Given the description of an element on the screen output the (x, y) to click on. 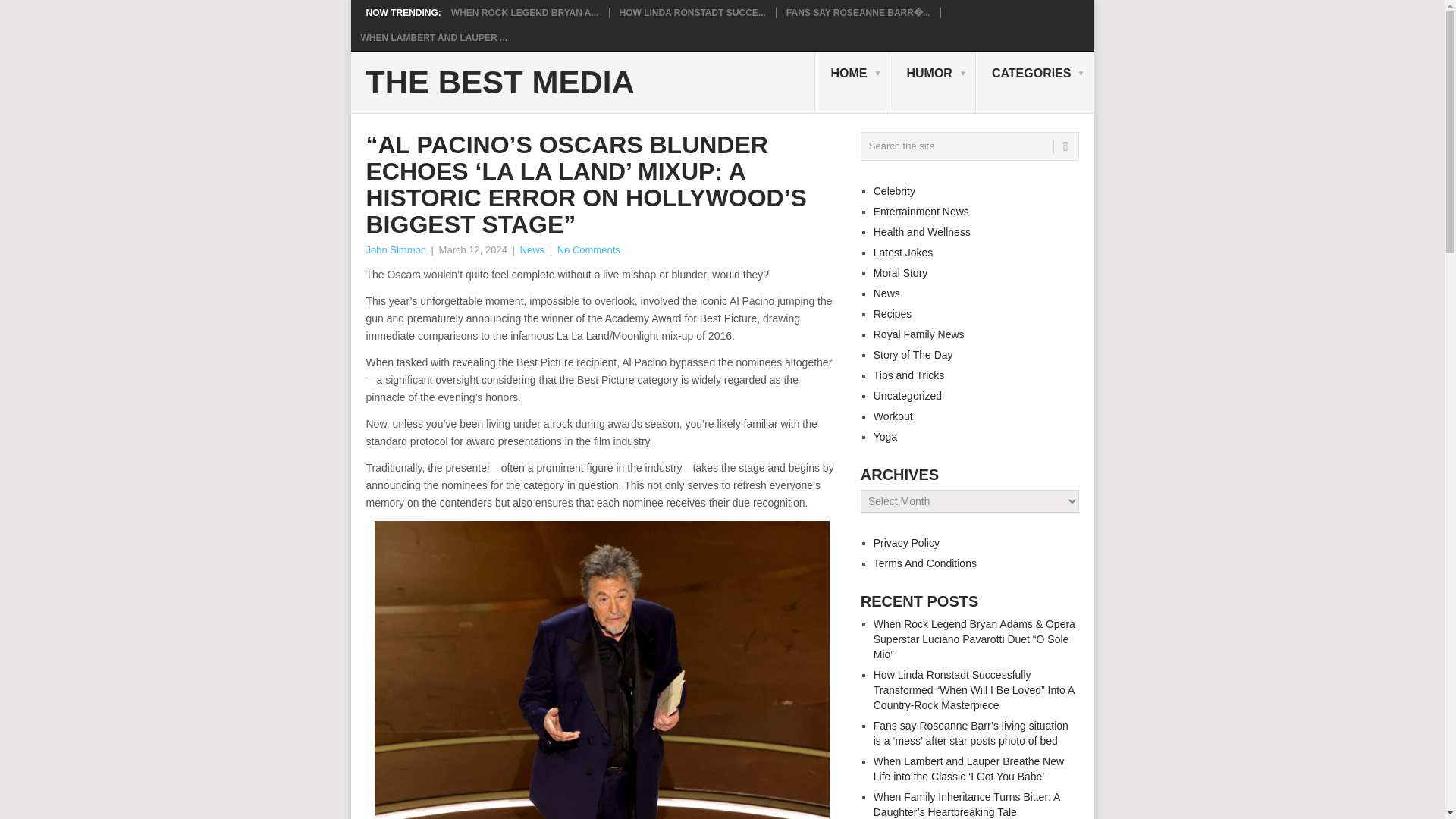
Health and Wellness (922, 232)
HOME (851, 82)
THE BEST MEDIA (499, 82)
Posts by John Simmon (395, 249)
WHEN ROCK LEGEND BRYAN A... (524, 12)
Celebrity (894, 191)
John Simmon (395, 249)
Search the site (969, 145)
WHEN LAMBERT AND LAUPER ... (434, 37)
Entertainment News (921, 211)
